Given the description of an element on the screen output the (x, y) to click on. 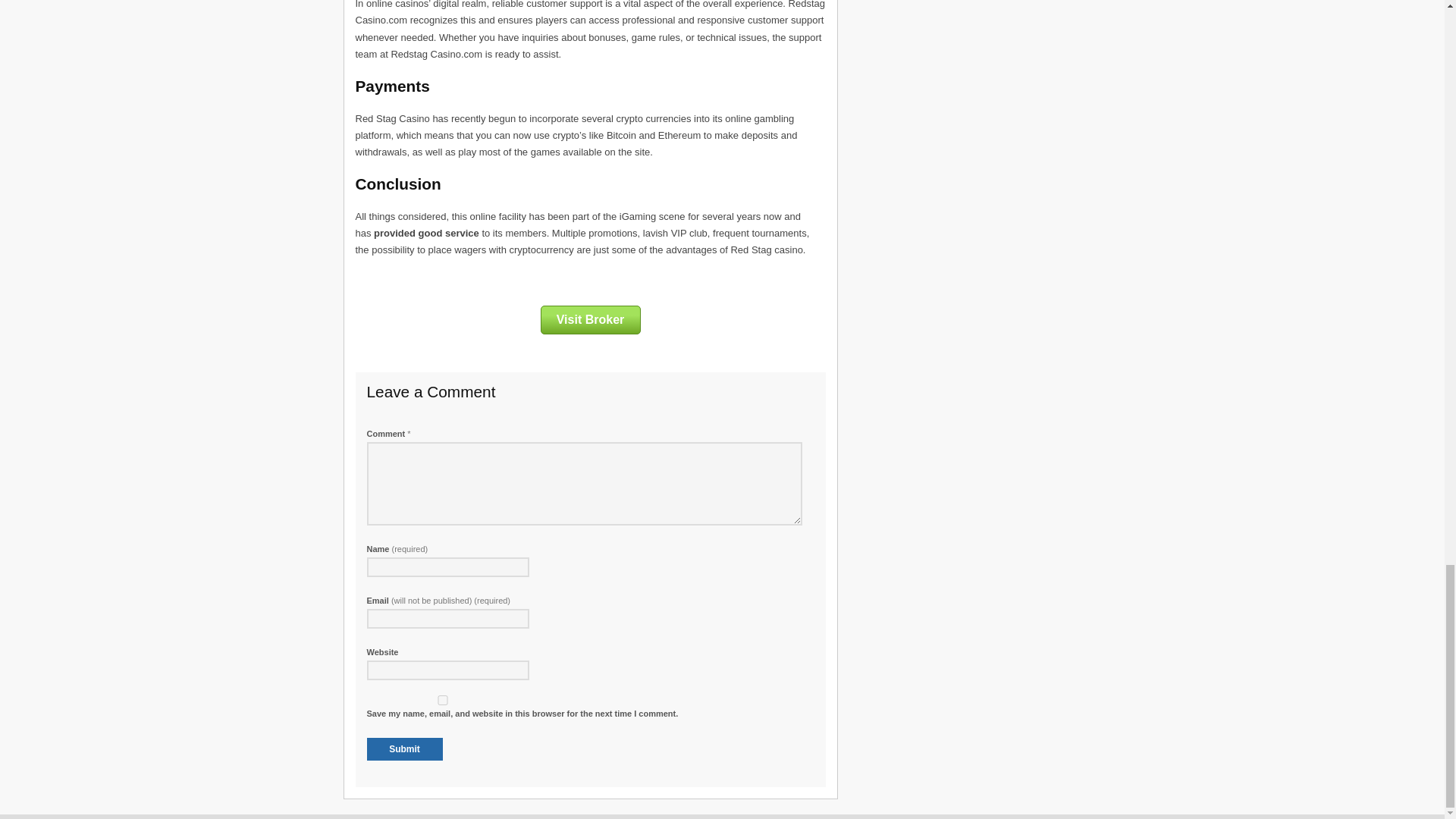
Visit Broker (590, 319)
Submit (404, 748)
yes (442, 700)
Submit (404, 748)
